Given the description of an element on the screen output the (x, y) to click on. 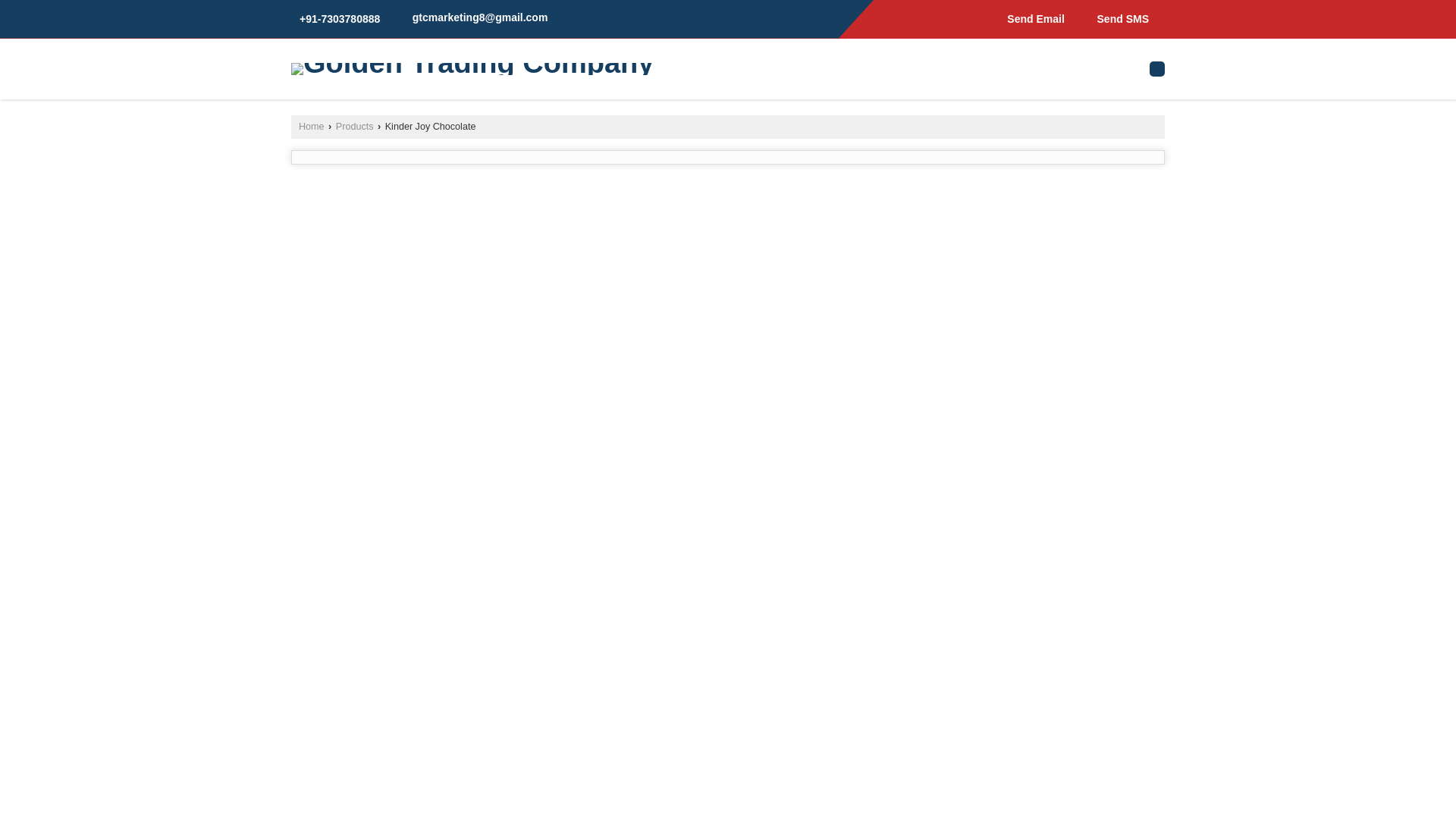
Send SMS (1119, 18)
Search (1157, 68)
Send Email (1031, 18)
Golden Trading Company (472, 68)
